Given the description of an element on the screen output the (x, y) to click on. 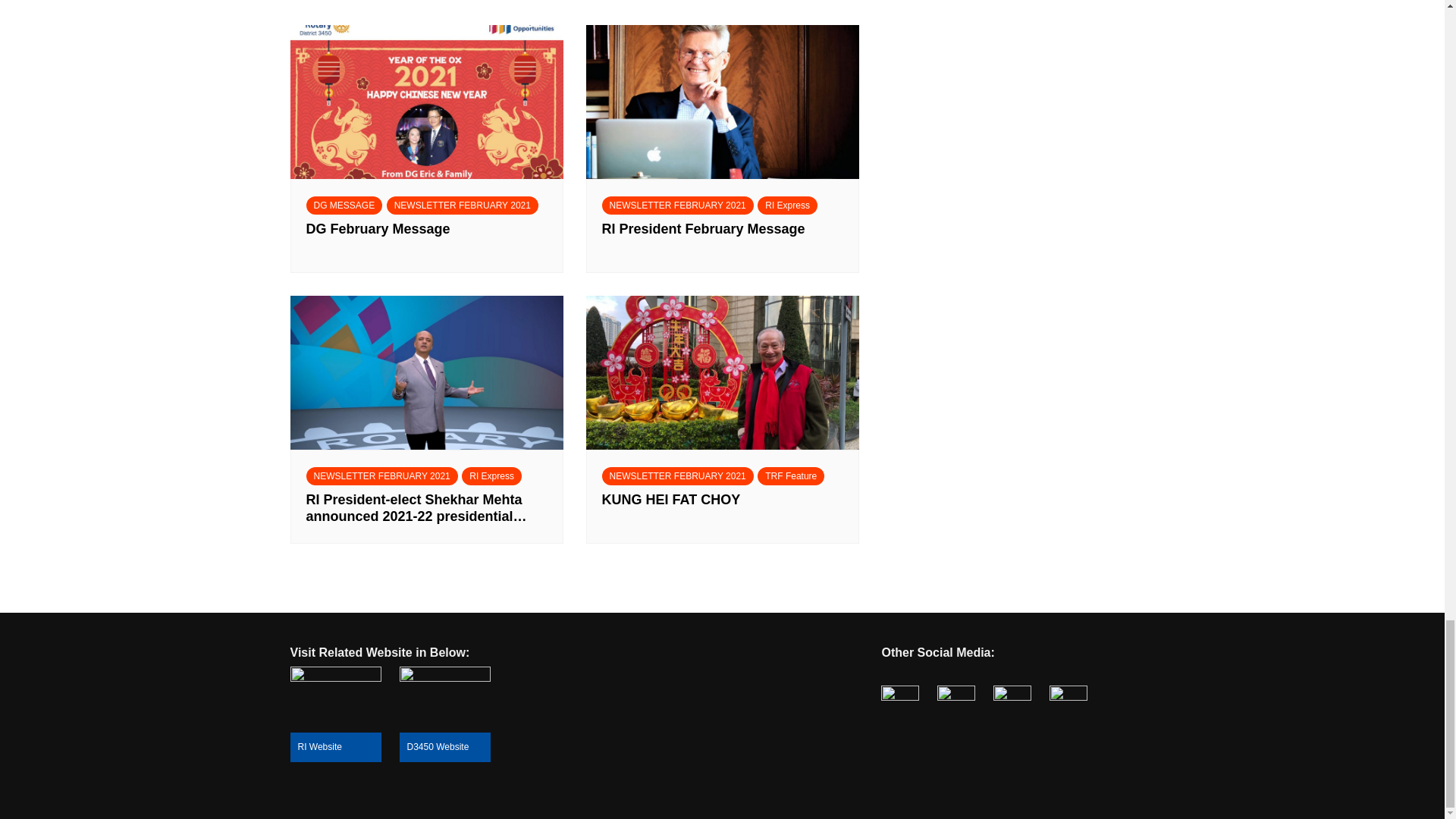
RI Express (786, 205)
KUNG HEI FAT CHOY (722, 508)
NEWSLETTER FEBRUARY 2021 (381, 475)
NEWSLETTER FEBRUARY 2021 (678, 205)
DG MESSAGE (343, 205)
DG February Message (426, 237)
NEWSLETTER FEBRUARY 2021 (678, 475)
RI President February Message (722, 237)
RI Express (491, 475)
TRF Feature (790, 475)
NEWSLETTER FEBRUARY 2021 (462, 205)
